Given the description of an element on the screen output the (x, y) to click on. 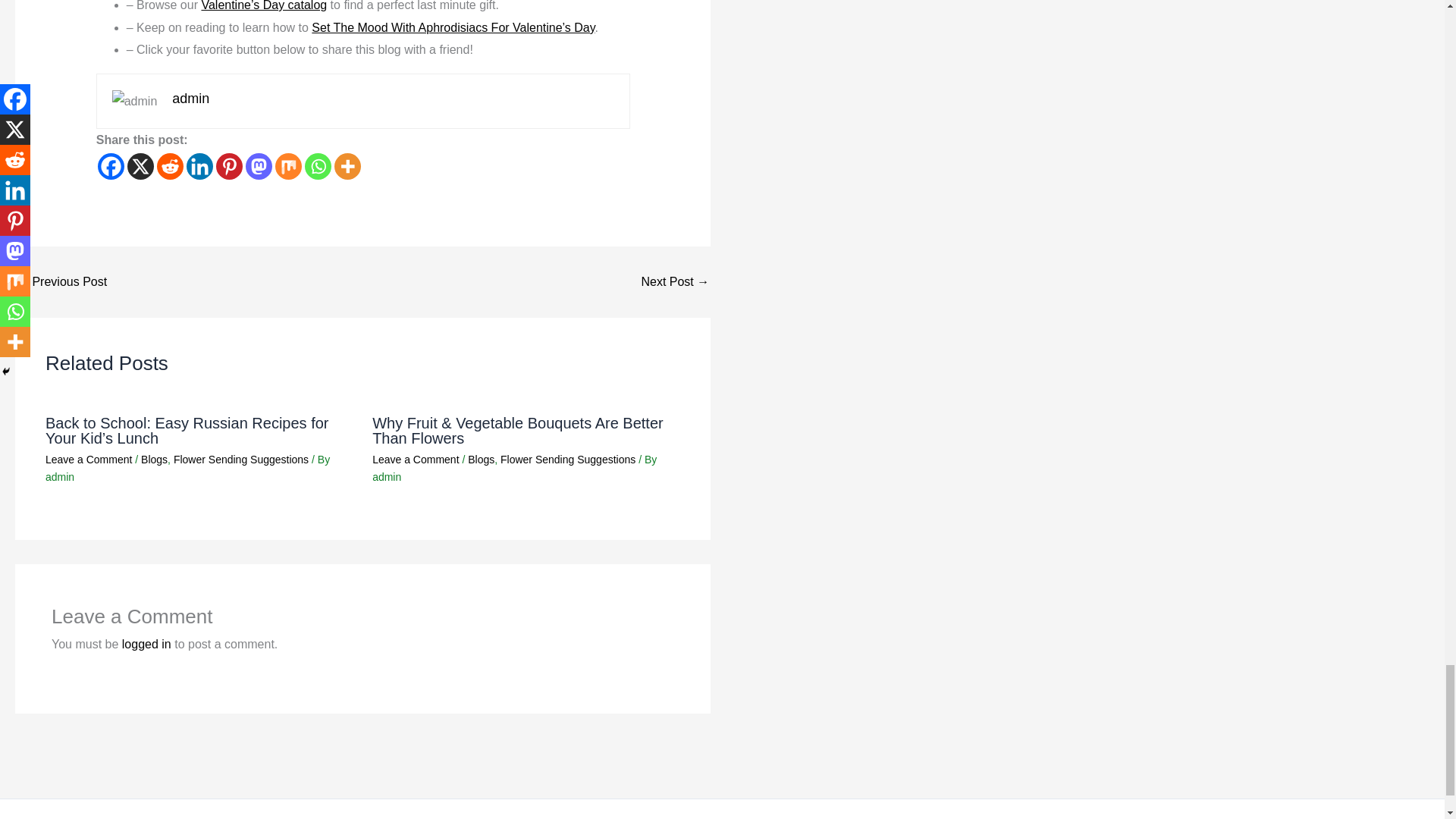
Pinterest (229, 166)
Facebook (110, 166)
X (141, 166)
Mastodon (259, 166)
Linkedin (199, 166)
Mix (288, 166)
admin (190, 98)
Reddit (170, 166)
More (347, 166)
Whatsapp (317, 166)
